Given the description of an element on the screen output the (x, y) to click on. 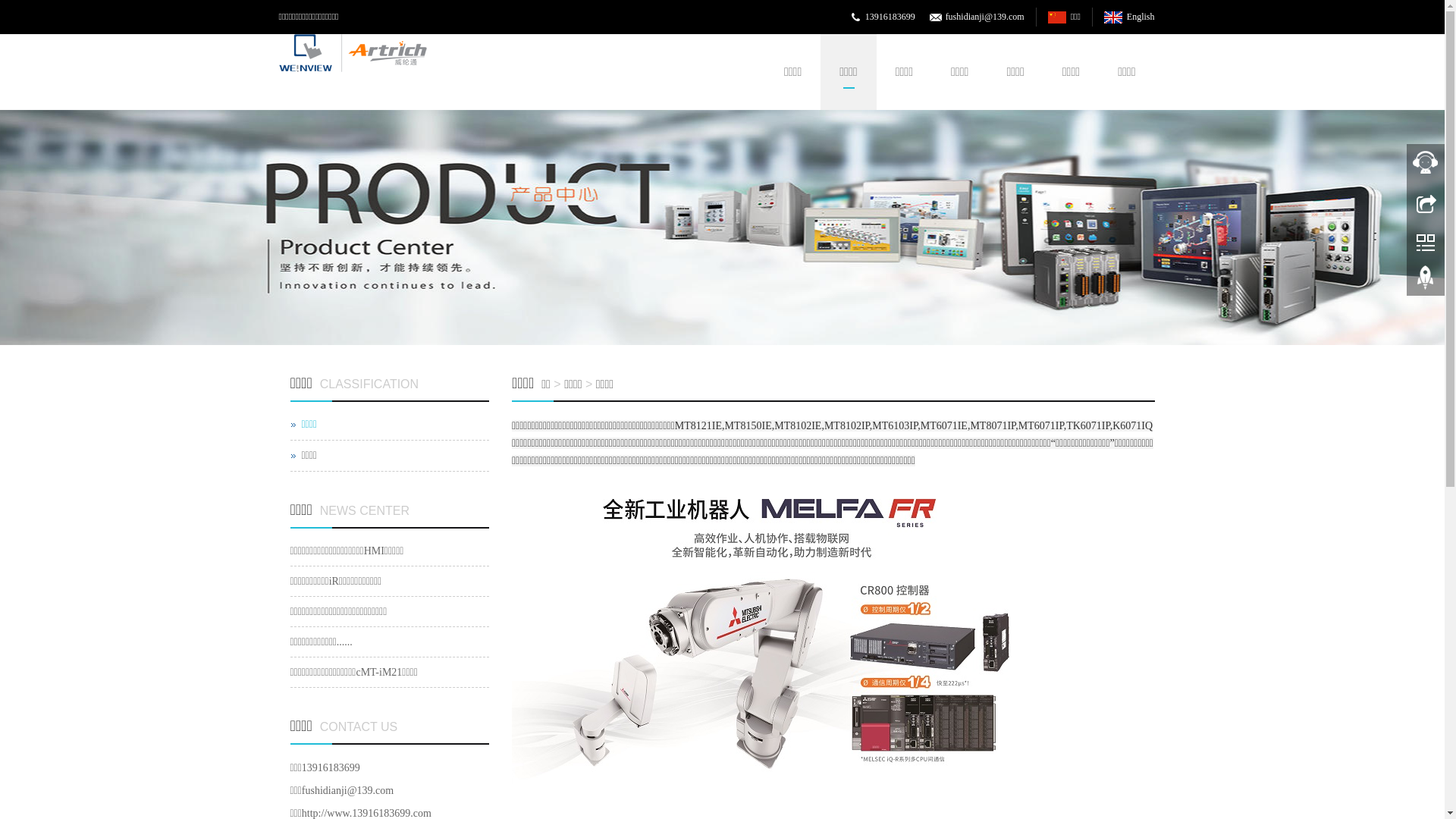
fushidianji@139.com Element type: text (984, 16)
2 Element type: hover (722, 227)
13916183699 Element type: text (890, 16)
English Element type: text (1129, 16)
